Given the description of an element on the screen output the (x, y) to click on. 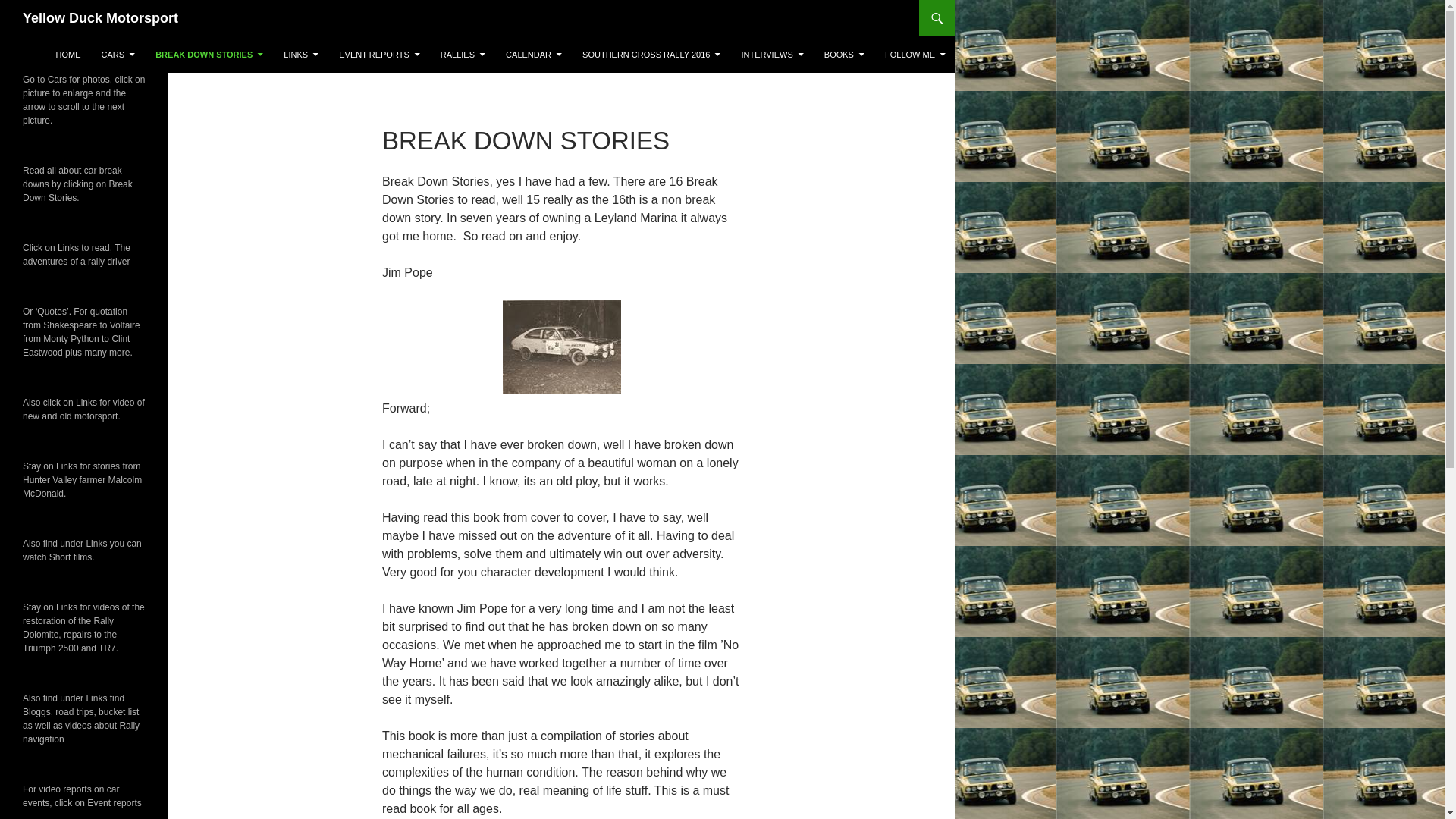
CARS (118, 54)
BREAK DOWN STORIES (209, 54)
Yellow Duck Motorsport (100, 18)
HOME (67, 54)
